Given the description of an element on the screen output the (x, y) to click on. 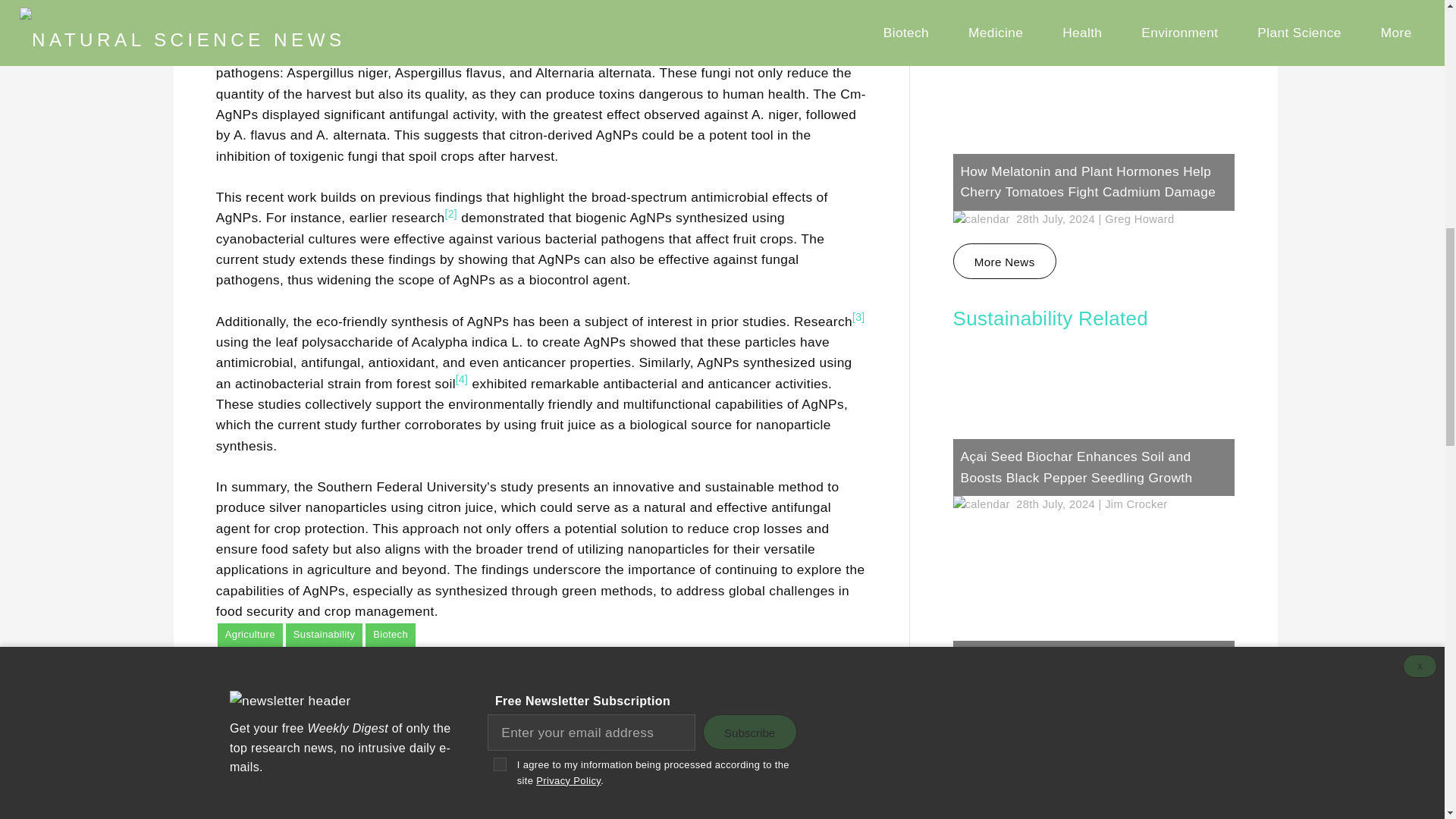
Biotech (389, 634)
Agriculture (249, 634)
Sustainability (323, 634)
